Given the description of an element on the screen output the (x, y) to click on. 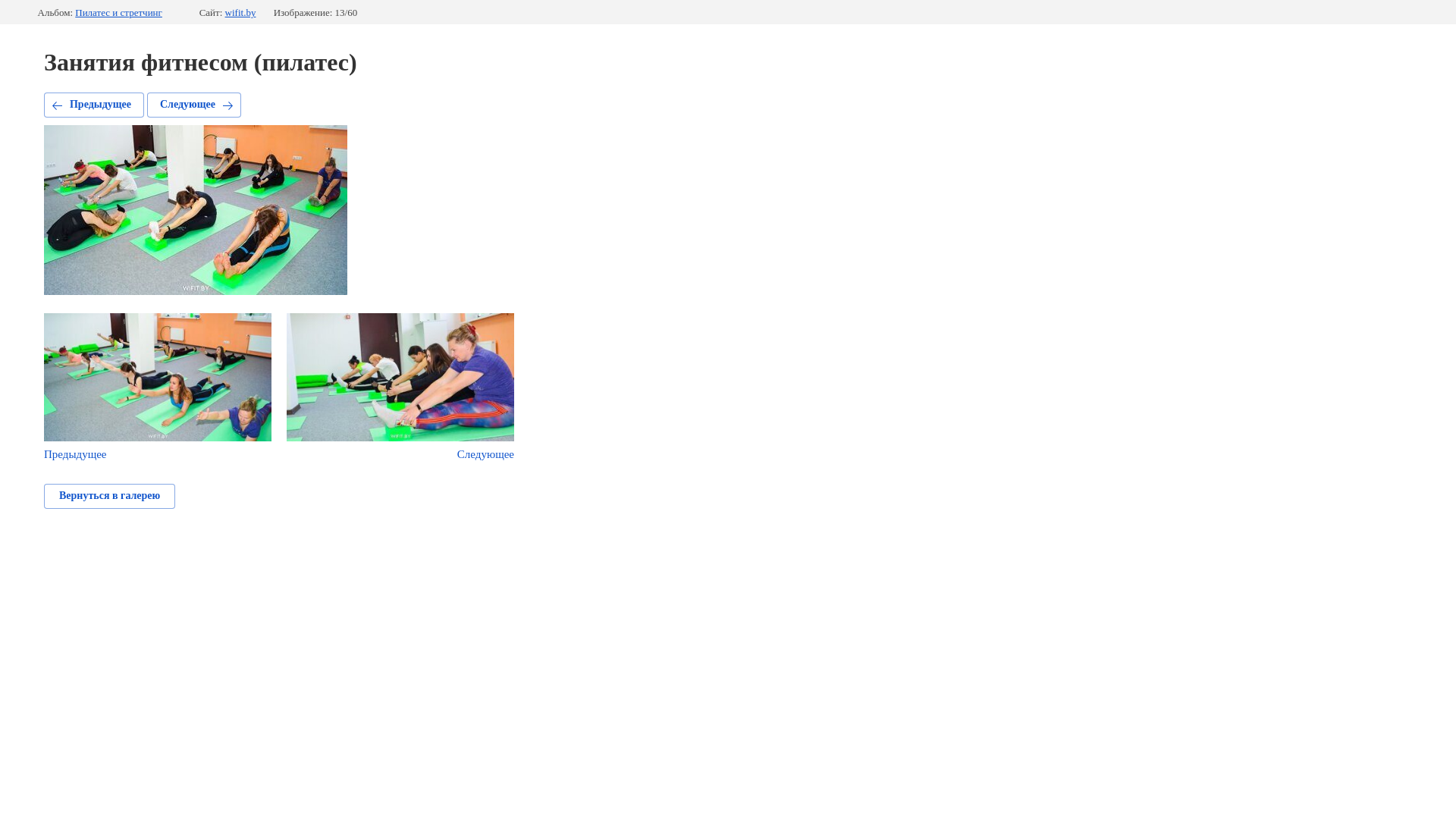
wifit.by Element type: text (240, 12)
